Given the description of an element on the screen output the (x, y) to click on. 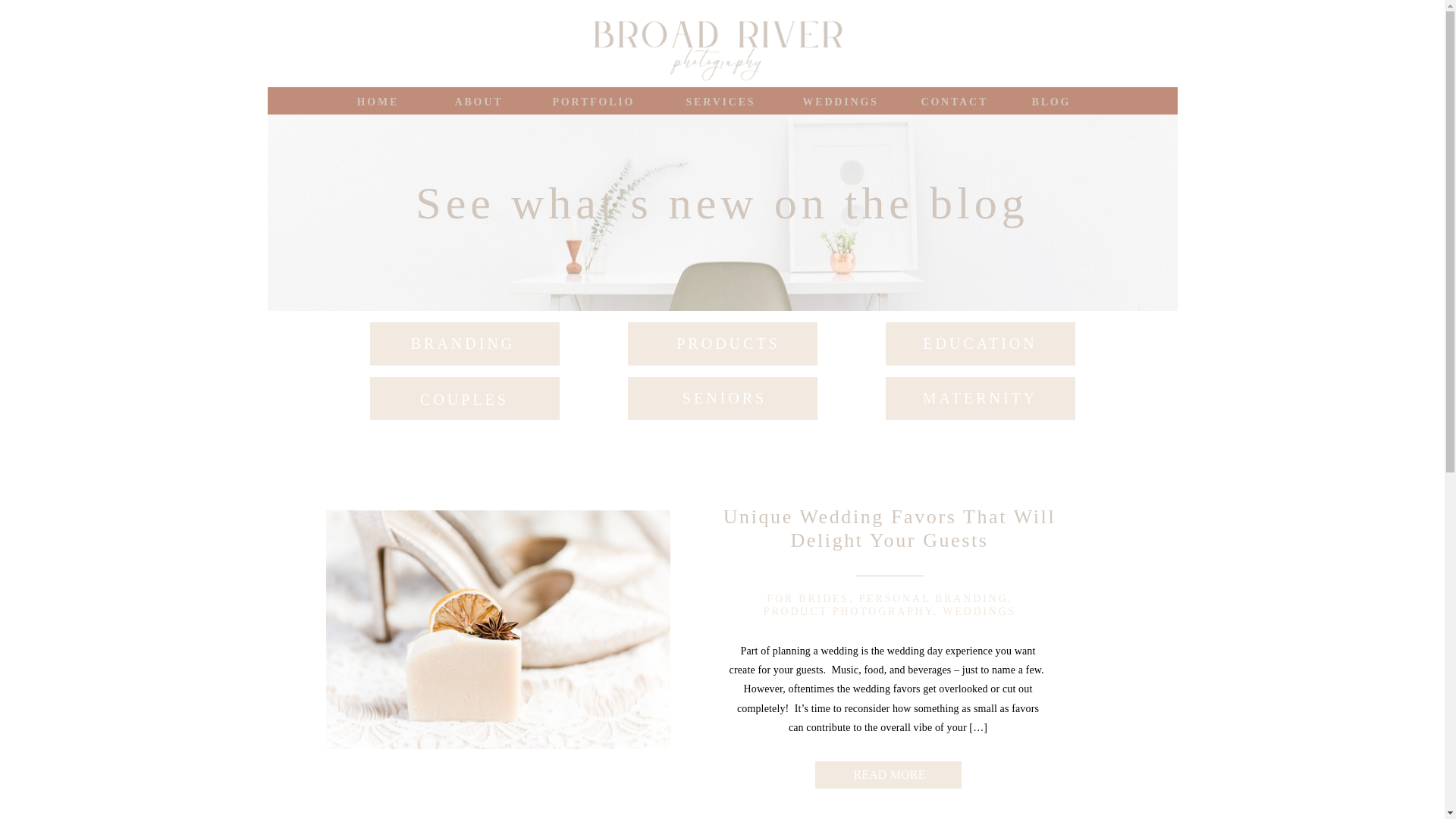
PERSONAL BRANDING (933, 598)
EDUCATION (979, 347)
HOME (378, 100)
Unique Wedding Favors That Will Delight Your Guests (497, 629)
MATERNITY (979, 402)
SENIORS (724, 402)
PRODUCT PHOTOGRAPHY (847, 611)
COUPLES (463, 401)
SERVICES (721, 100)
WEDDINGS (979, 611)
